Given the description of an element on the screen output the (x, y) to click on. 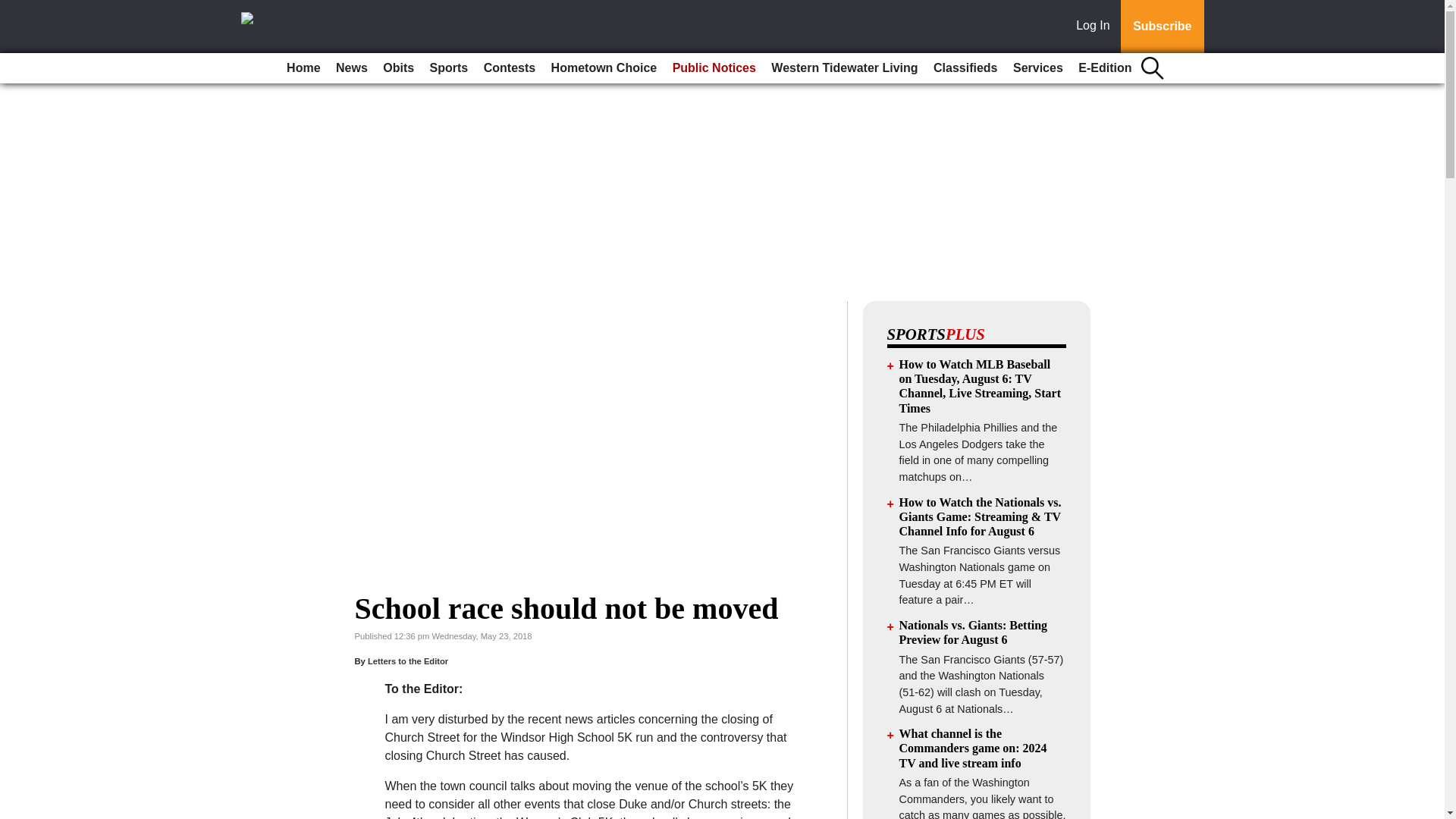
Hometown Choice (603, 68)
Go (13, 9)
Obits (398, 68)
Home (303, 68)
Log In (1095, 26)
Classifieds (965, 68)
Letters to the Editor (408, 660)
Public Notices (713, 68)
E-Edition (1104, 68)
Subscribe (1162, 26)
